Given the description of an element on the screen output the (x, y) to click on. 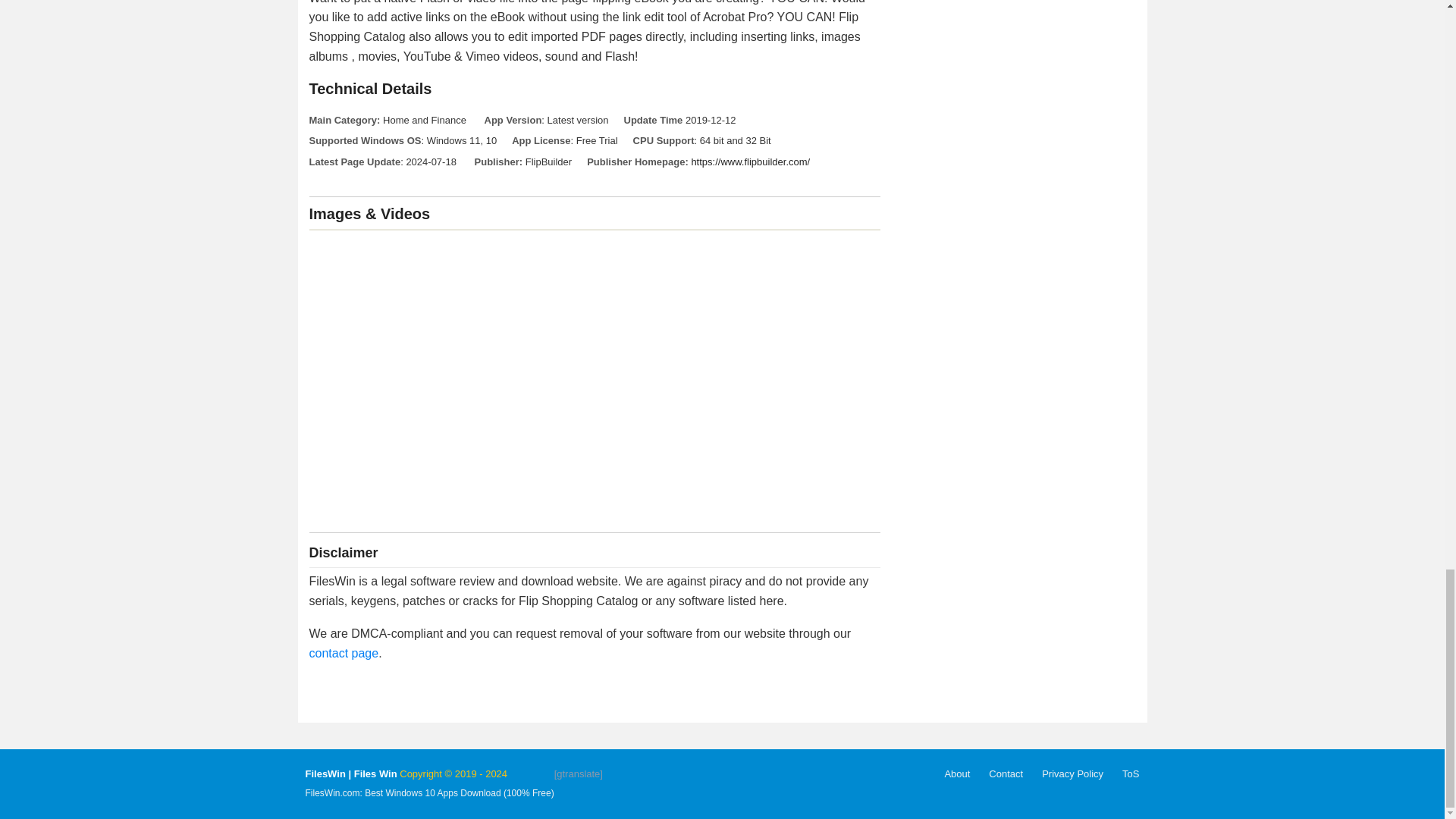
ToS (1130, 773)
About (956, 773)
Privacy Policy (1072, 773)
contact page (343, 653)
Contact (1005, 773)
